Given the description of an element on the screen output the (x, y) to click on. 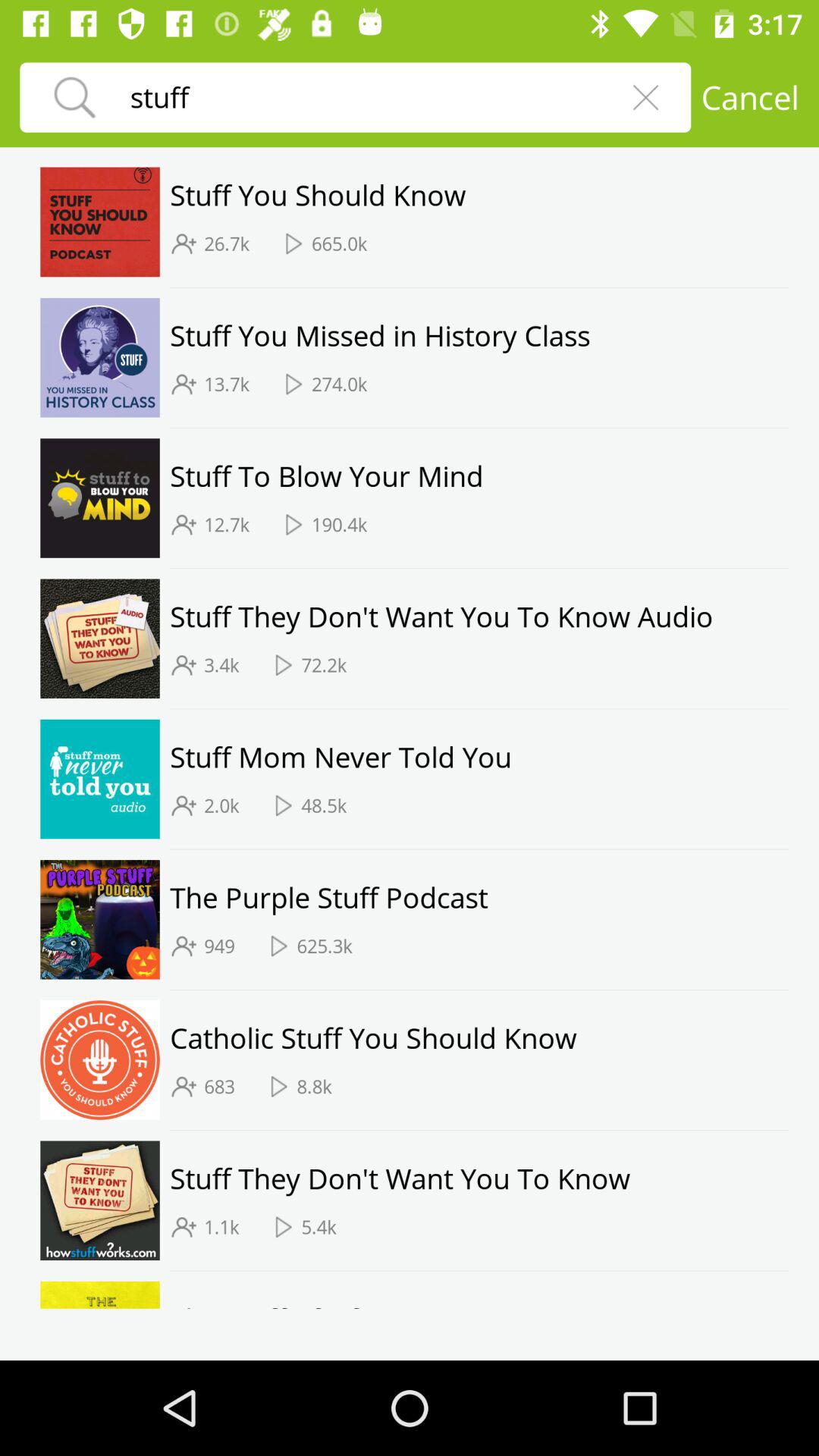
press the item above the the stuff of item (478, 1270)
